Given the description of an element on the screen output the (x, y) to click on. 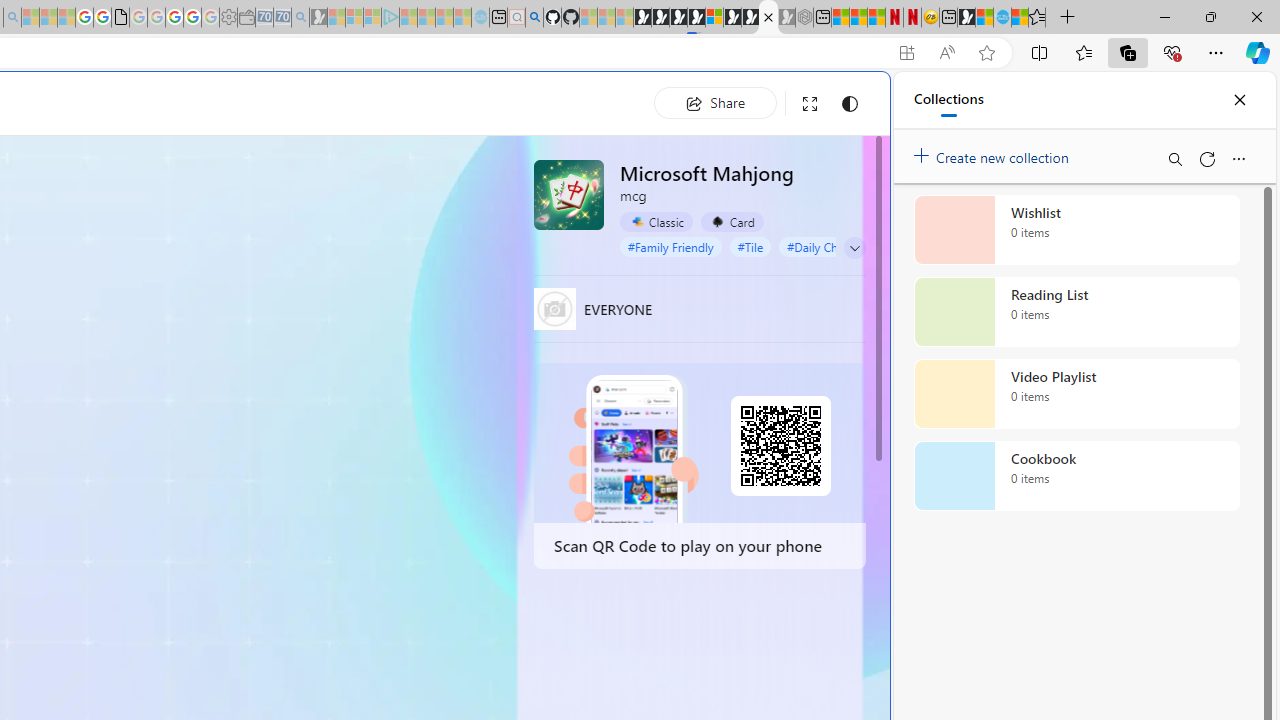
github - Search (534, 17)
Wishlist collection, 0 items (1076, 229)
Search or enter web address (343, 191)
#Daily Challenge (831, 246)
Create new collection (994, 153)
